Given the description of an element on the screen output the (x, y) to click on. 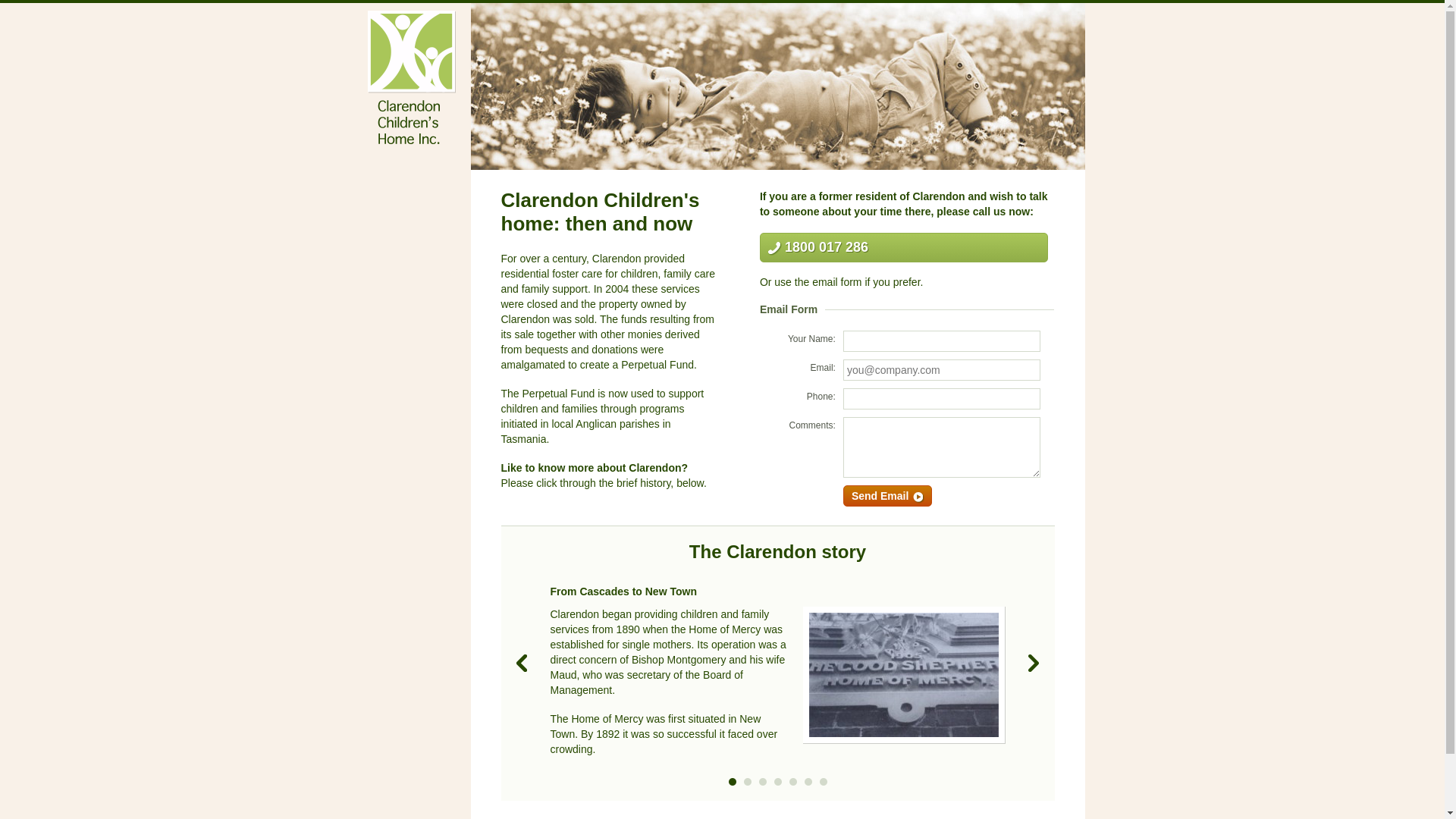
Previous Element type: text (521, 662)
1800 017 286 Element type: text (903, 247)
Send Email Element type: text (887, 495)
Next Element type: text (1033, 662)
